Given the description of an element on the screen output the (x, y) to click on. 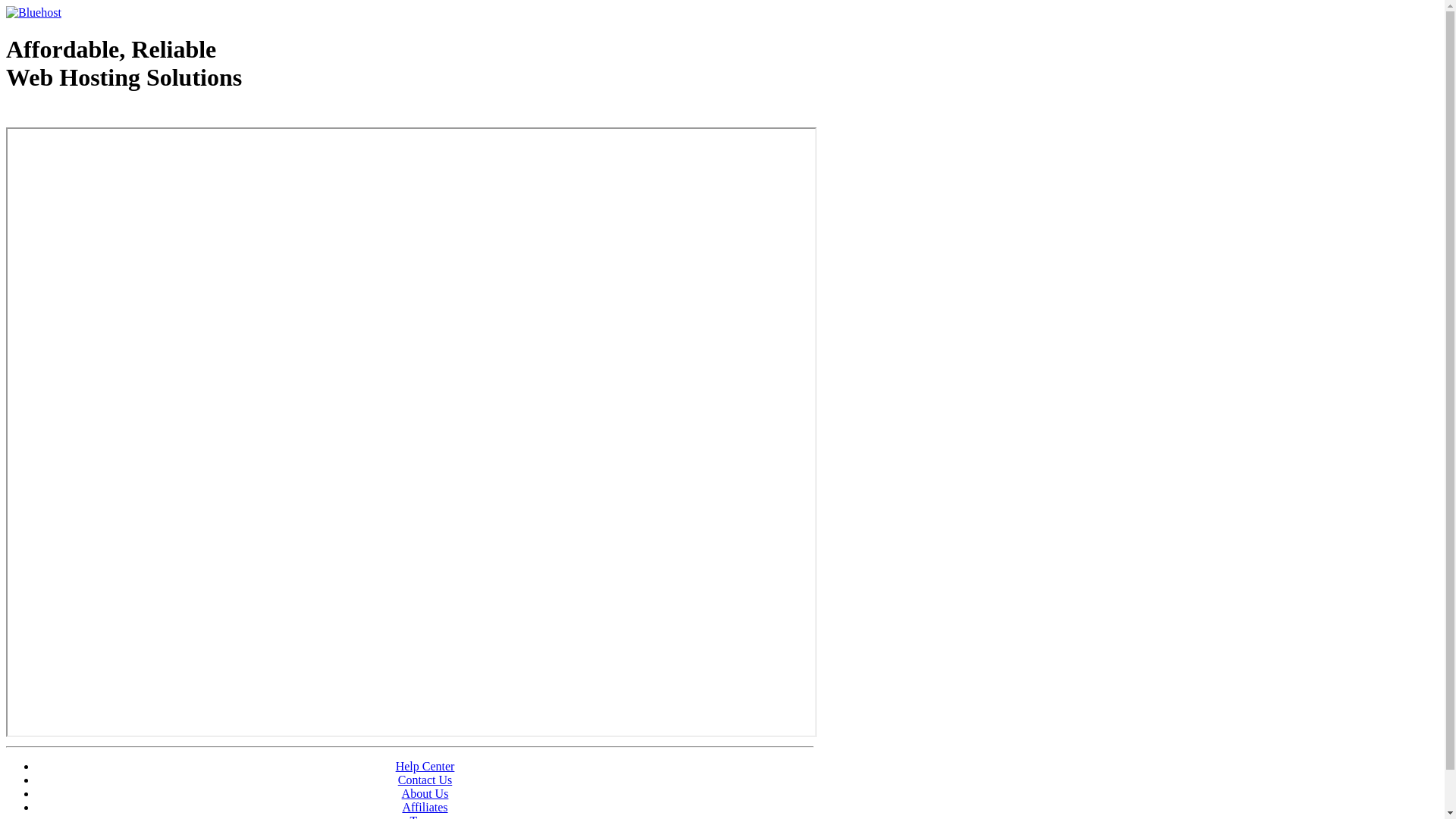
Affiliates Element type: text (424, 806)
Contact Us Element type: text (425, 779)
About Us Element type: text (424, 793)
Web Hosting - courtesy of www.bluehost.com Element type: text (94, 115)
Help Center Element type: text (425, 765)
